Given the description of an element on the screen output the (x, y) to click on. 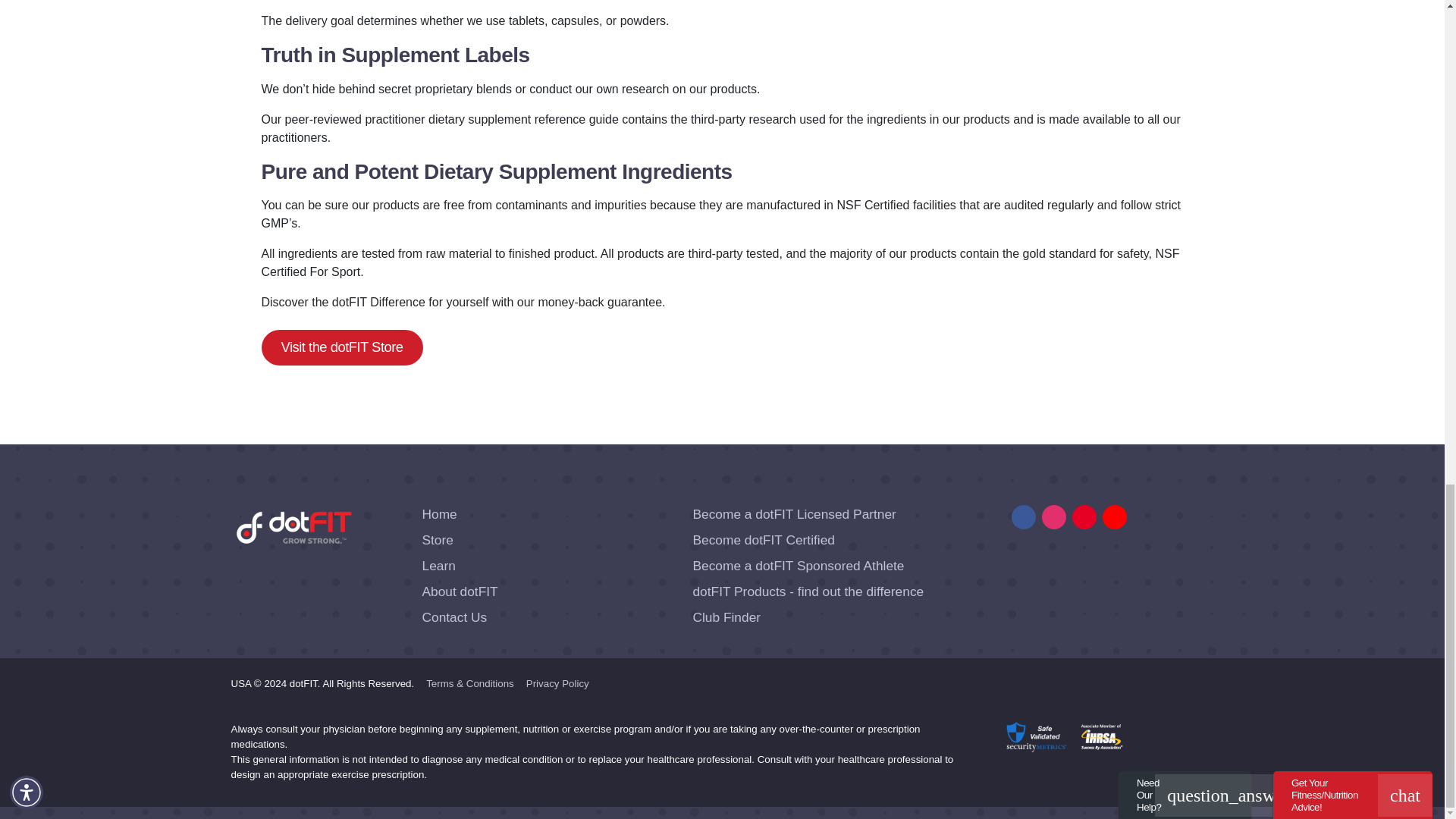
Privacy Policy (557, 683)
